Given the description of an element on the screen output the (x, y) to click on. 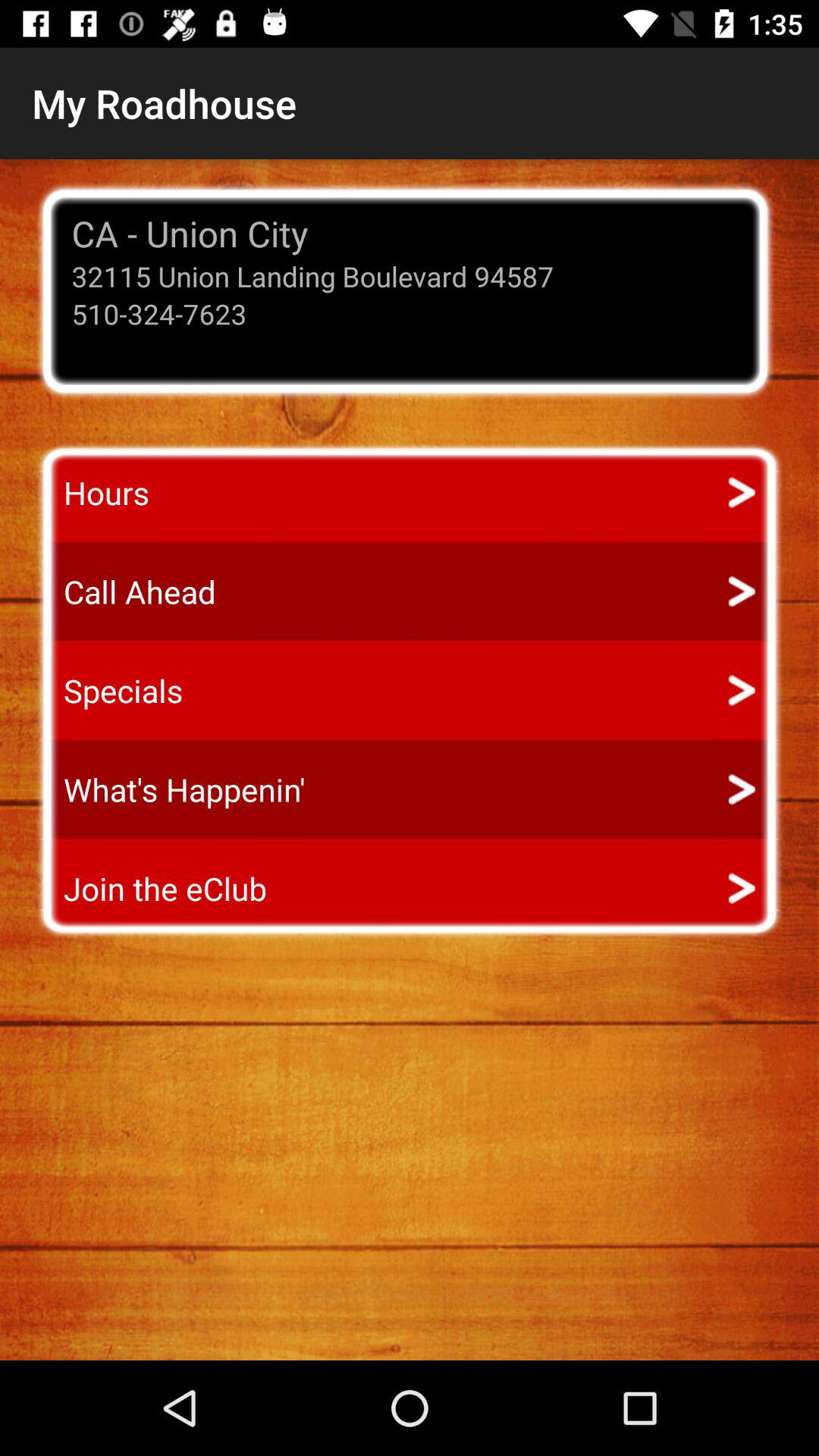
choose the app below the 510-324-7623 (92, 492)
